Given the description of an element on the screen output the (x, y) to click on. 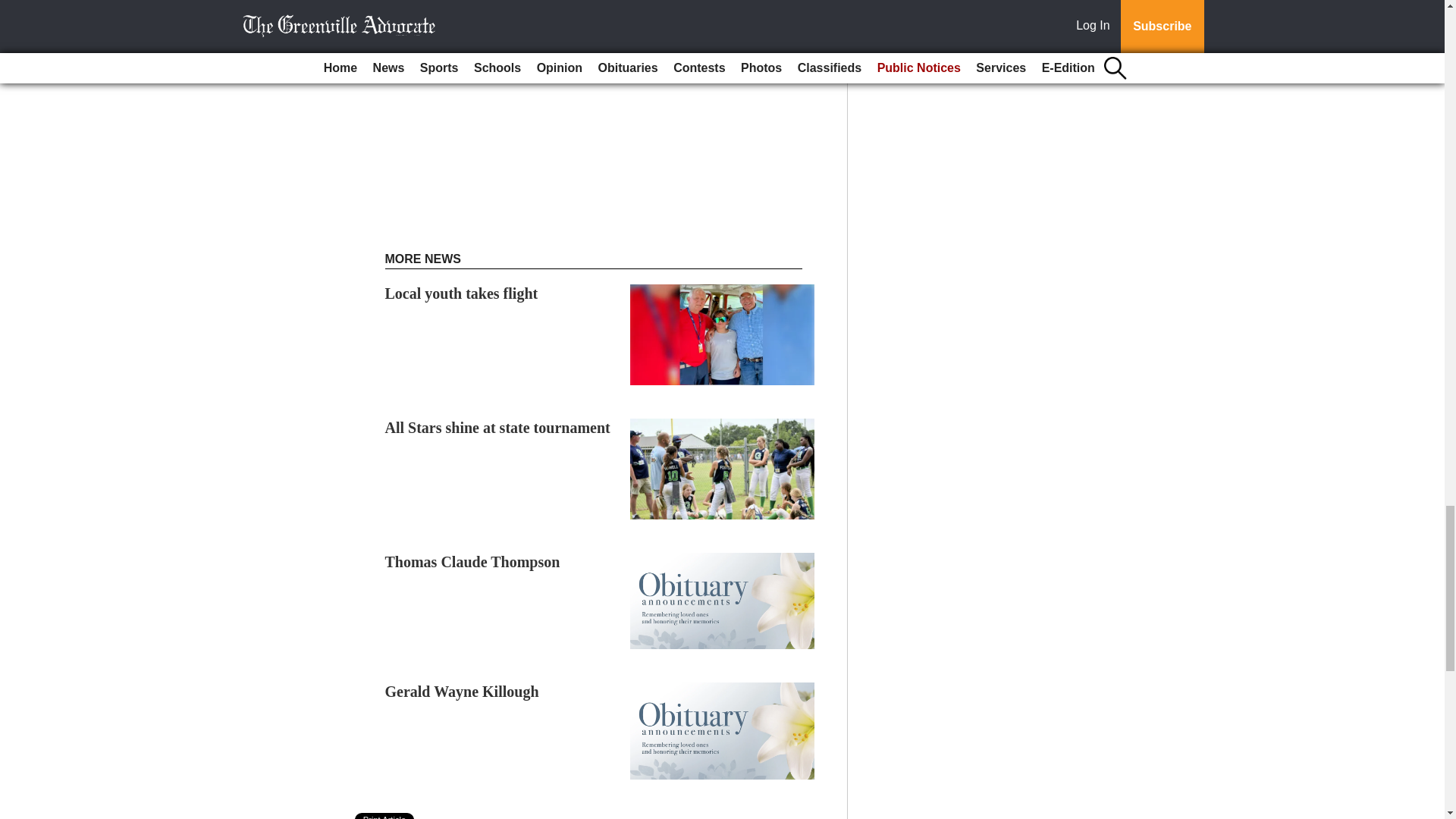
Thomas Claude Thompson (472, 561)
Gerald Wayne Killough (461, 691)
Local youth takes flight (461, 293)
All Stars shine at state tournament (497, 427)
All Stars shine at state tournament (497, 427)
Gerald Wayne Killough (461, 691)
Thomas Claude Thompson (472, 561)
Local youth takes flight (461, 293)
Print Article (384, 816)
